Given the description of an element on the screen output the (x, y) to click on. 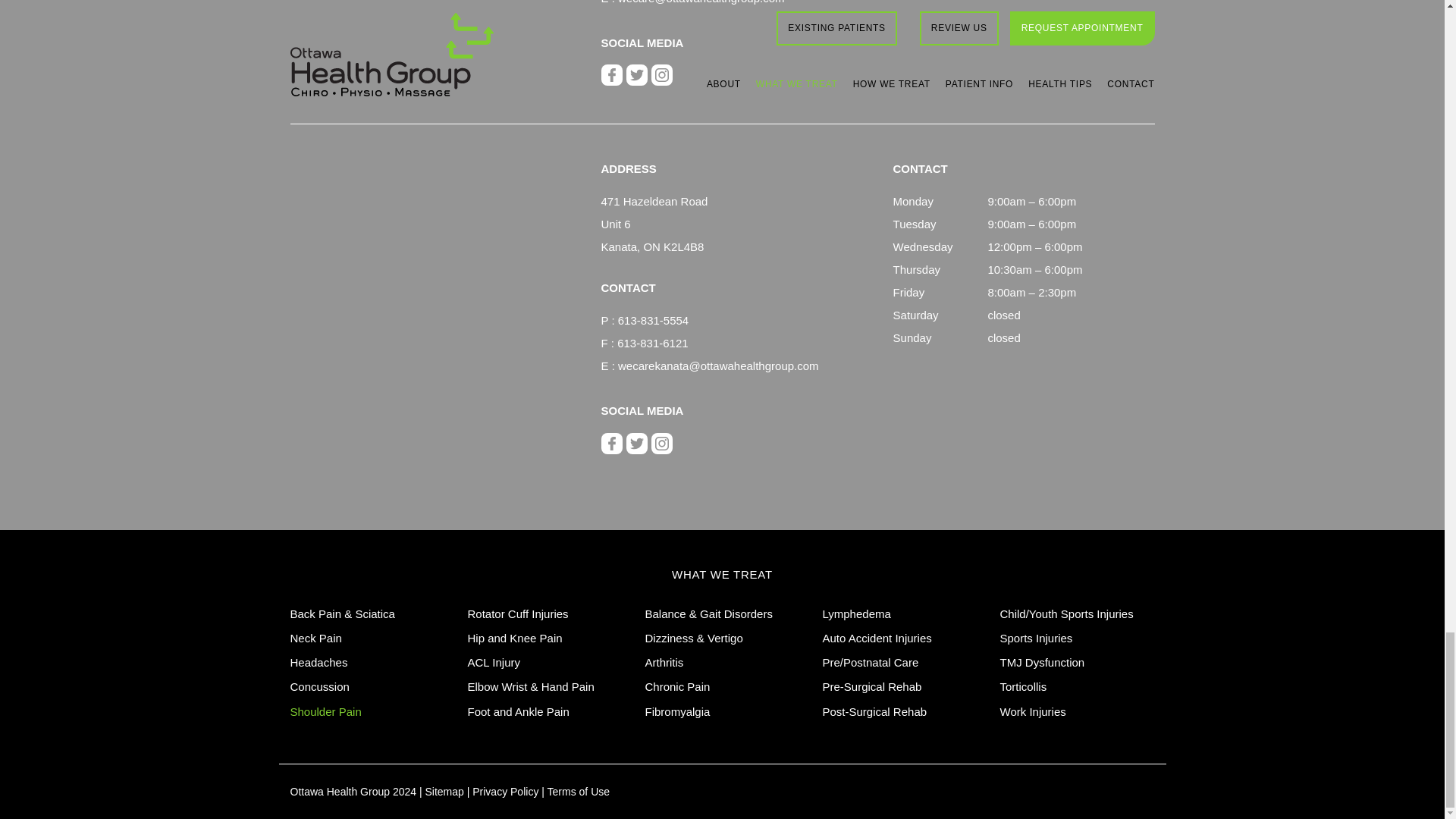
ACL Injury (493, 662)
Headaches (318, 662)
Shoulder Pain (325, 711)
Concussion (319, 686)
Rotator Cuff Injuries (517, 613)
Neck Pain (314, 637)
Hip and Knee Pain (514, 637)
